Given the description of an element on the screen output the (x, y) to click on. 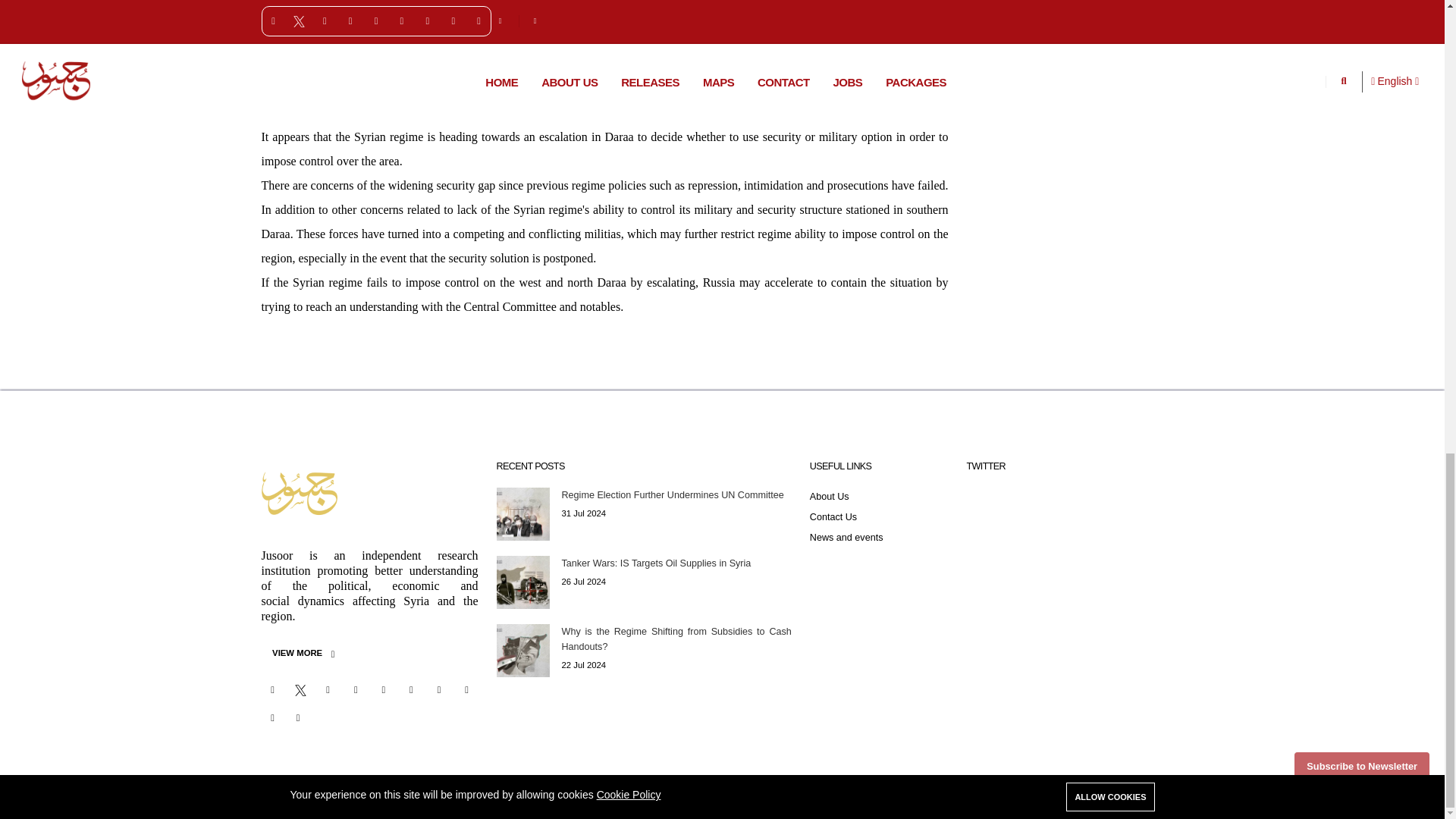
Facebook (271, 690)
Youtube (354, 690)
Whatsapp (383, 690)
Instagram (328, 690)
Telegram (410, 690)
